Given the description of an element on the screen output the (x, y) to click on. 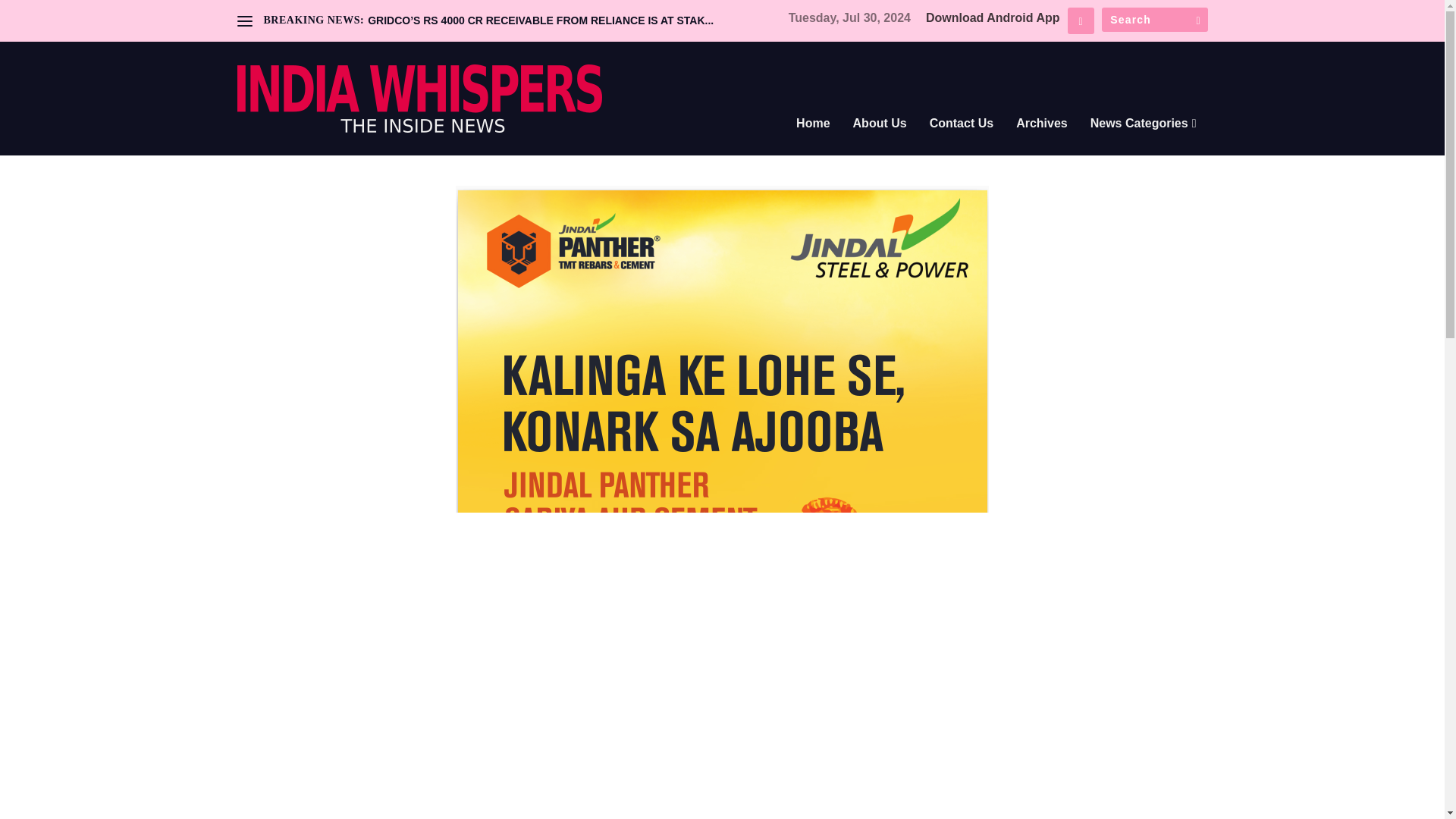
Contact Us (961, 143)
News Categories (1143, 143)
Search for: (1153, 19)
Download Android App (992, 17)
About Us (880, 143)
Archives (1041, 143)
